Given the description of an element on the screen output the (x, y) to click on. 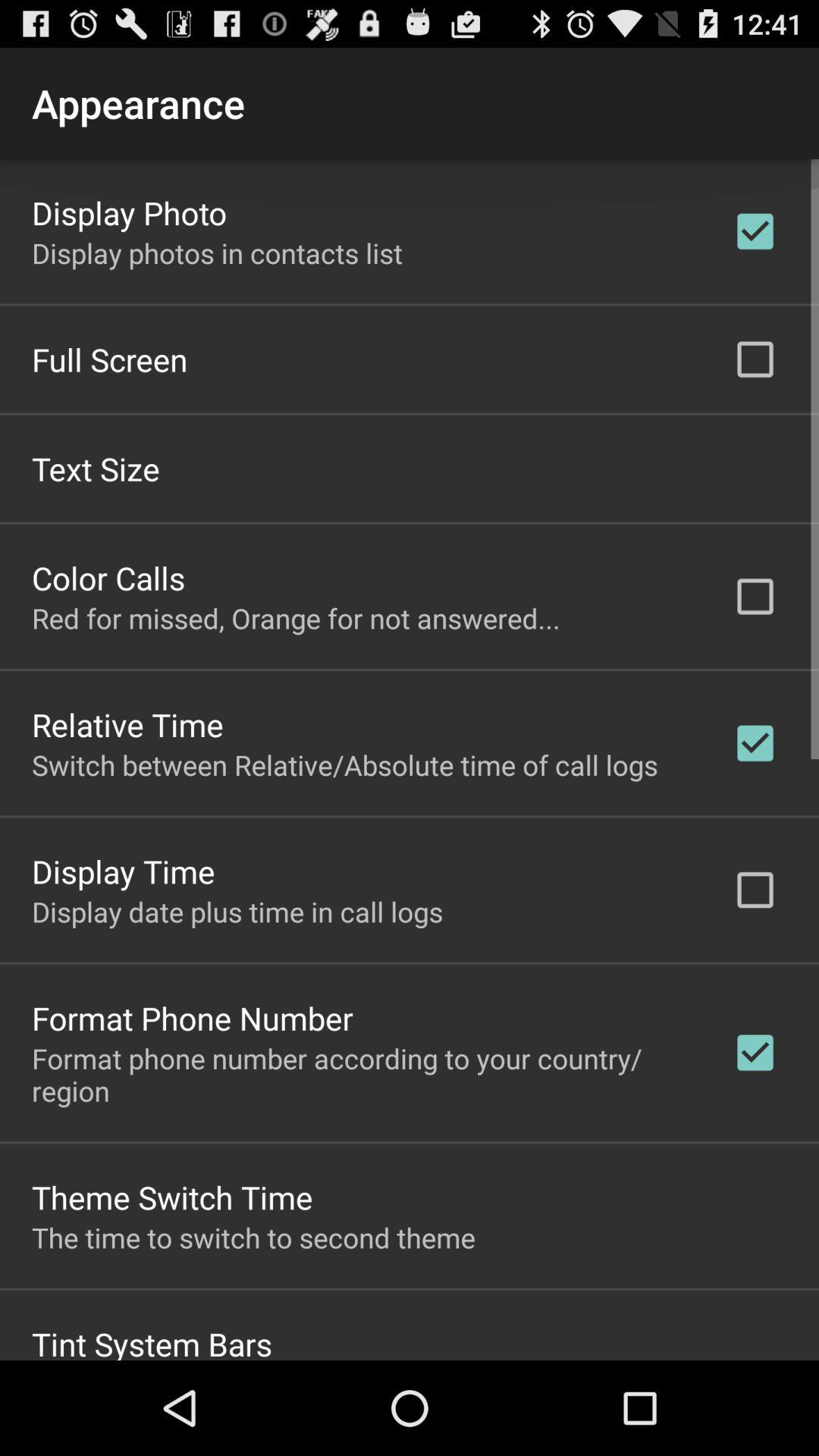
launch the time to icon (253, 1236)
